Given the description of an element on the screen output the (x, y) to click on. 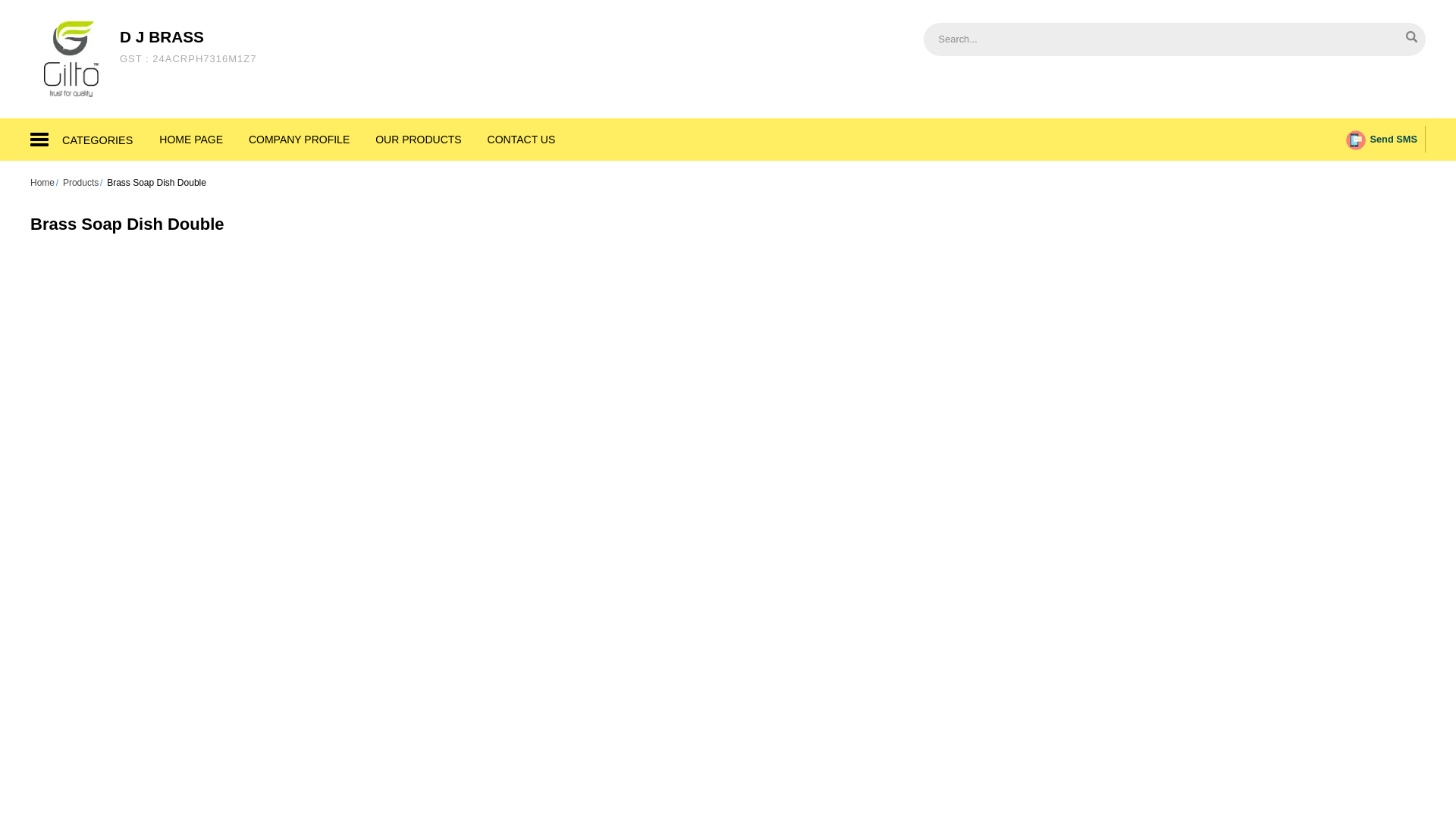
Search... (1129, 38)
Contact Us (521, 139)
Products (80, 182)
Send SMS (1381, 139)
COMPANY PROFILE (299, 139)
OUR PRODUCTS (418, 139)
HOME PAGE (187, 46)
CONTACT US (191, 139)
Home (521, 139)
